Given the description of an element on the screen output the (x, y) to click on. 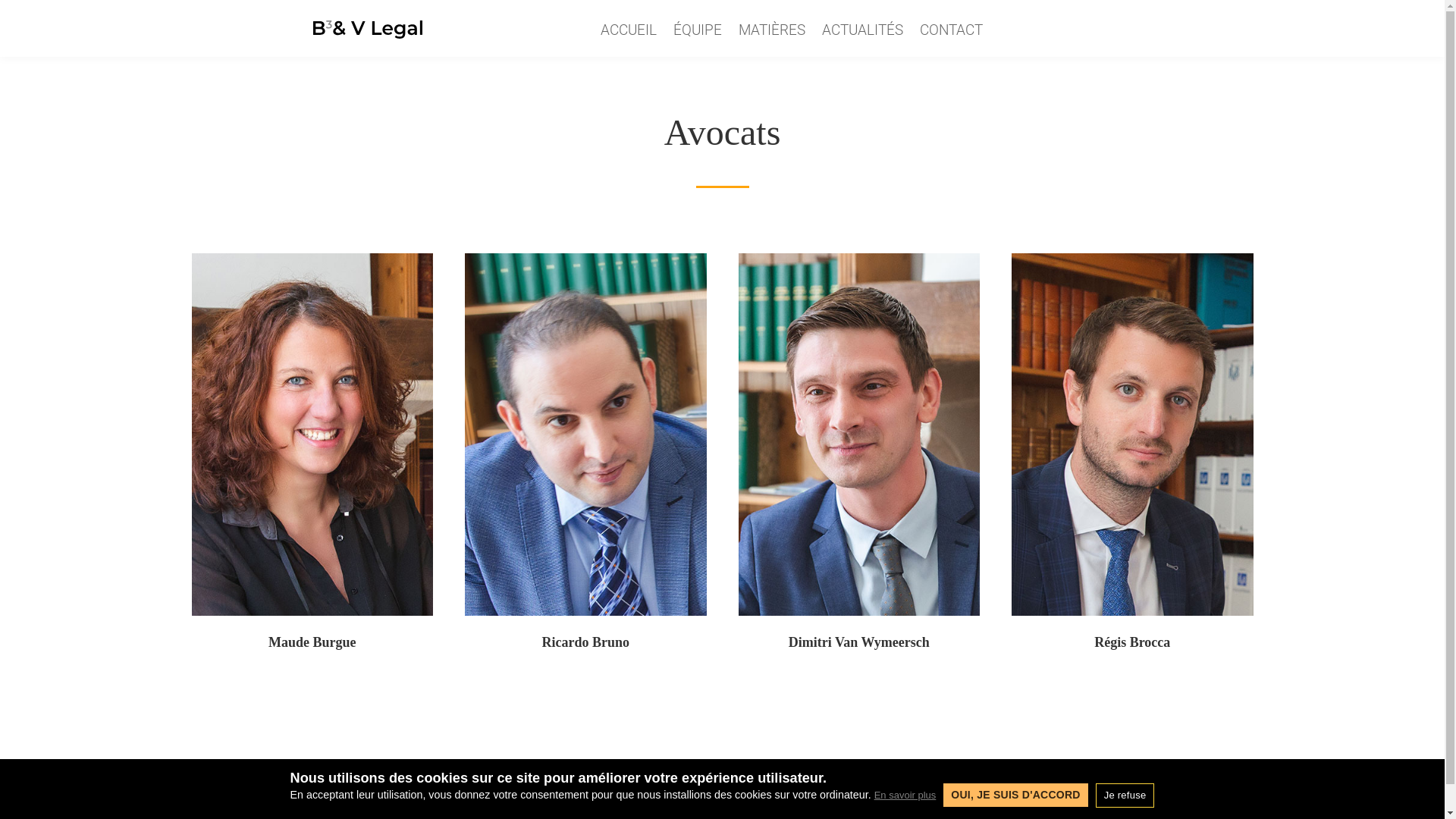
CONTACT Element type: text (950, 33)
Maude Burgue Element type: text (312, 641)
Dimitri Van Wymeersch Element type: text (858, 641)
ACCUEIL Element type: text (628, 33)
Je refuse Element type: text (1124, 794)
En savoir plus Element type: text (905, 794)
Ricardo Bruno Element type: text (585, 641)
OUI, JE SUIS D'ACCORD Element type: text (1015, 794)
